Given the description of an element on the screen output the (x, y) to click on. 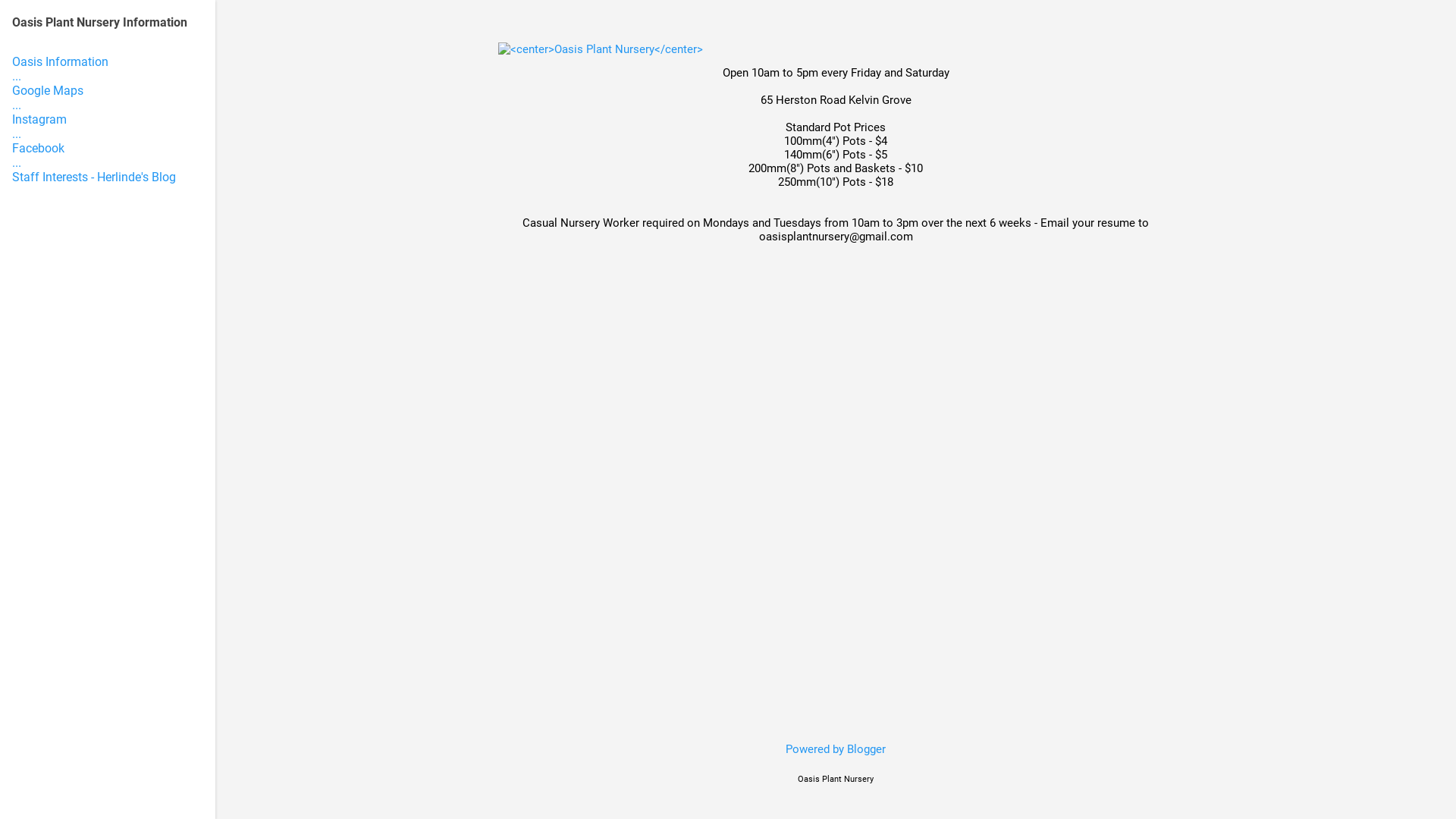
Powered by Blogger Element type: text (835, 749)
Oasis Information Element type: text (60, 61)
Facebook Element type: text (38, 148)
Google Maps Element type: text (47, 90)
... Element type: text (16, 104)
... Element type: text (16, 76)
... Element type: text (16, 133)
... Element type: text (16, 162)
Staff Interests - Herlinde's Blog Element type: text (93, 176)
Instagram Element type: text (39, 119)
